Given the description of an element on the screen output the (x, y) to click on. 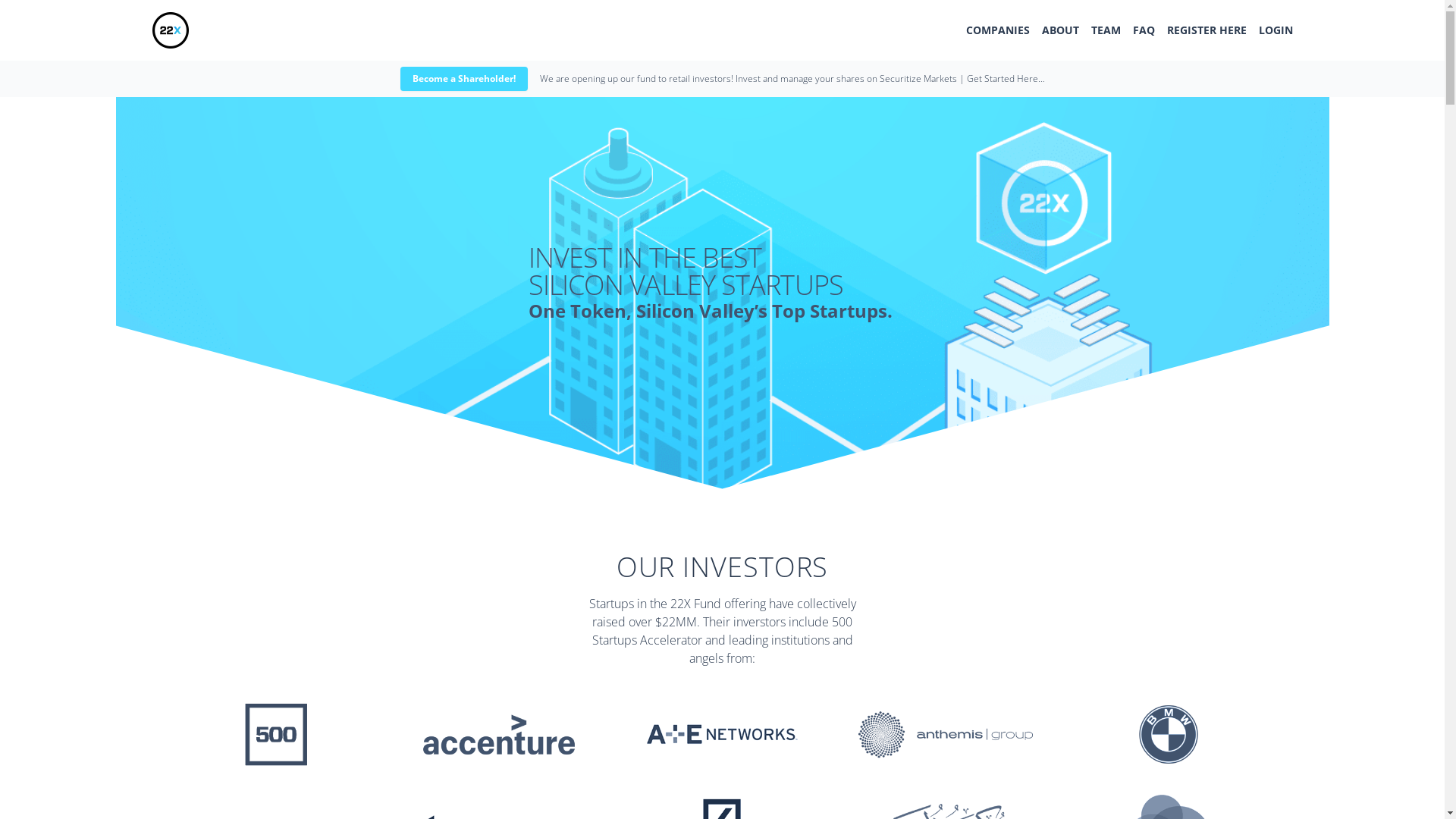
ABOUT Element type: text (1060, 29)
LOGIN Element type: text (1275, 29)
COMPANIES Element type: text (997, 29)
Become a Shareholder! Element type: text (463, 78)
FAQ Element type: text (1143, 29)
REGISTER HERE Element type: text (1205, 29)
TEAM Element type: text (1105, 29)
